Given the description of an element on the screen output the (x, y) to click on. 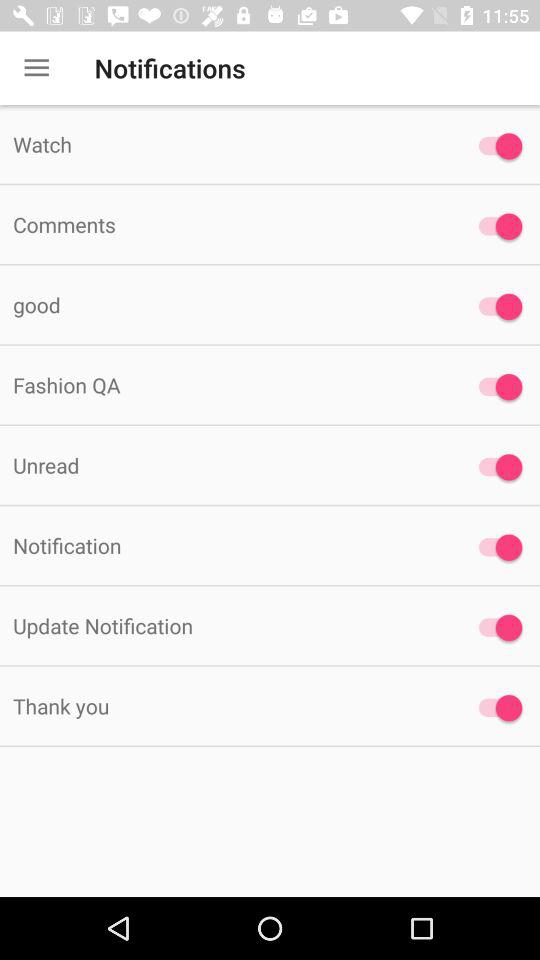
click update notification item (225, 625)
